Given the description of an element on the screen output the (x, y) to click on. 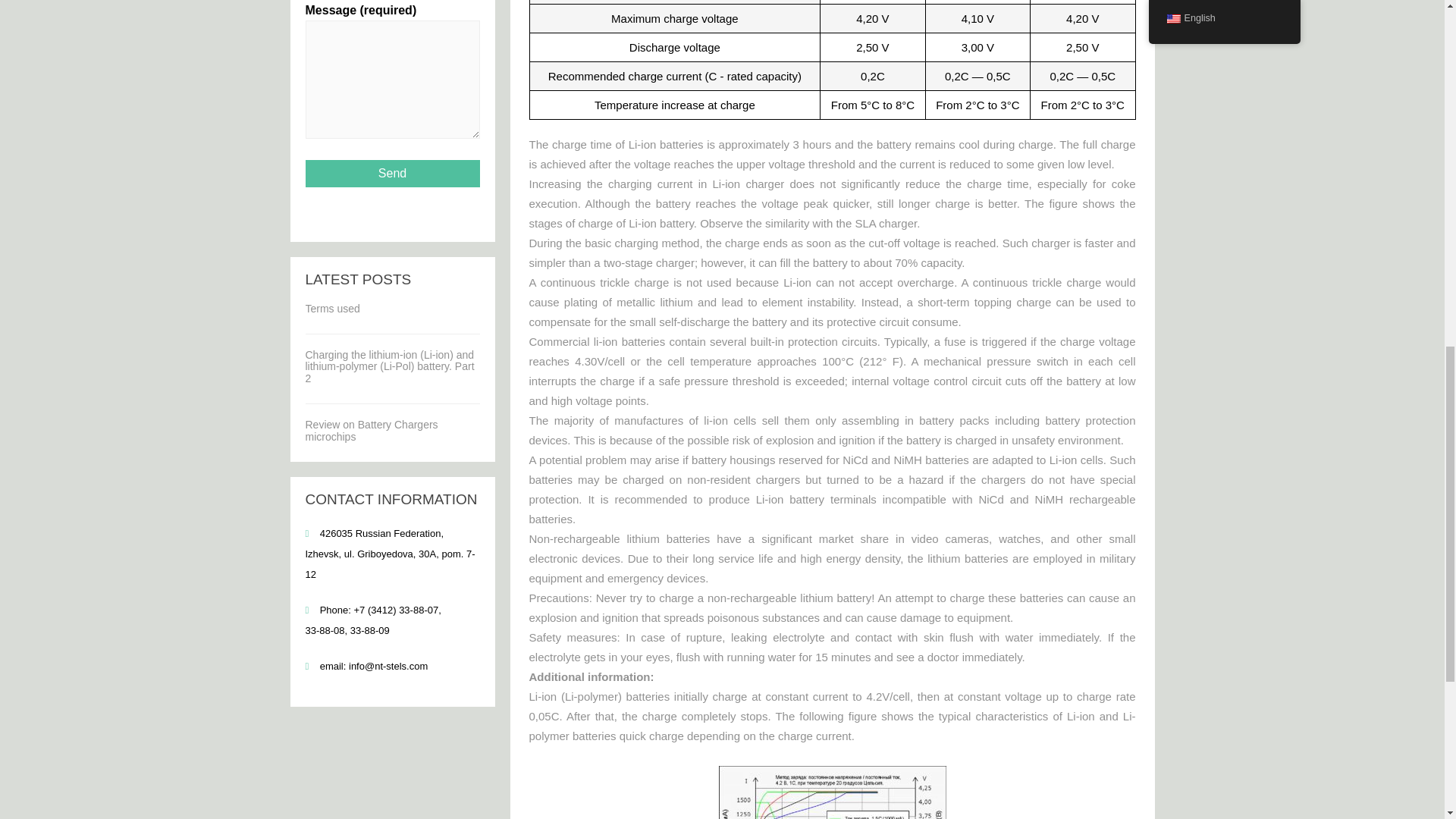
Send (391, 173)
Review on Battery Chargers microchips (371, 430)
Send (391, 173)
Terms used (331, 308)
